Given the description of an element on the screen output the (x, y) to click on. 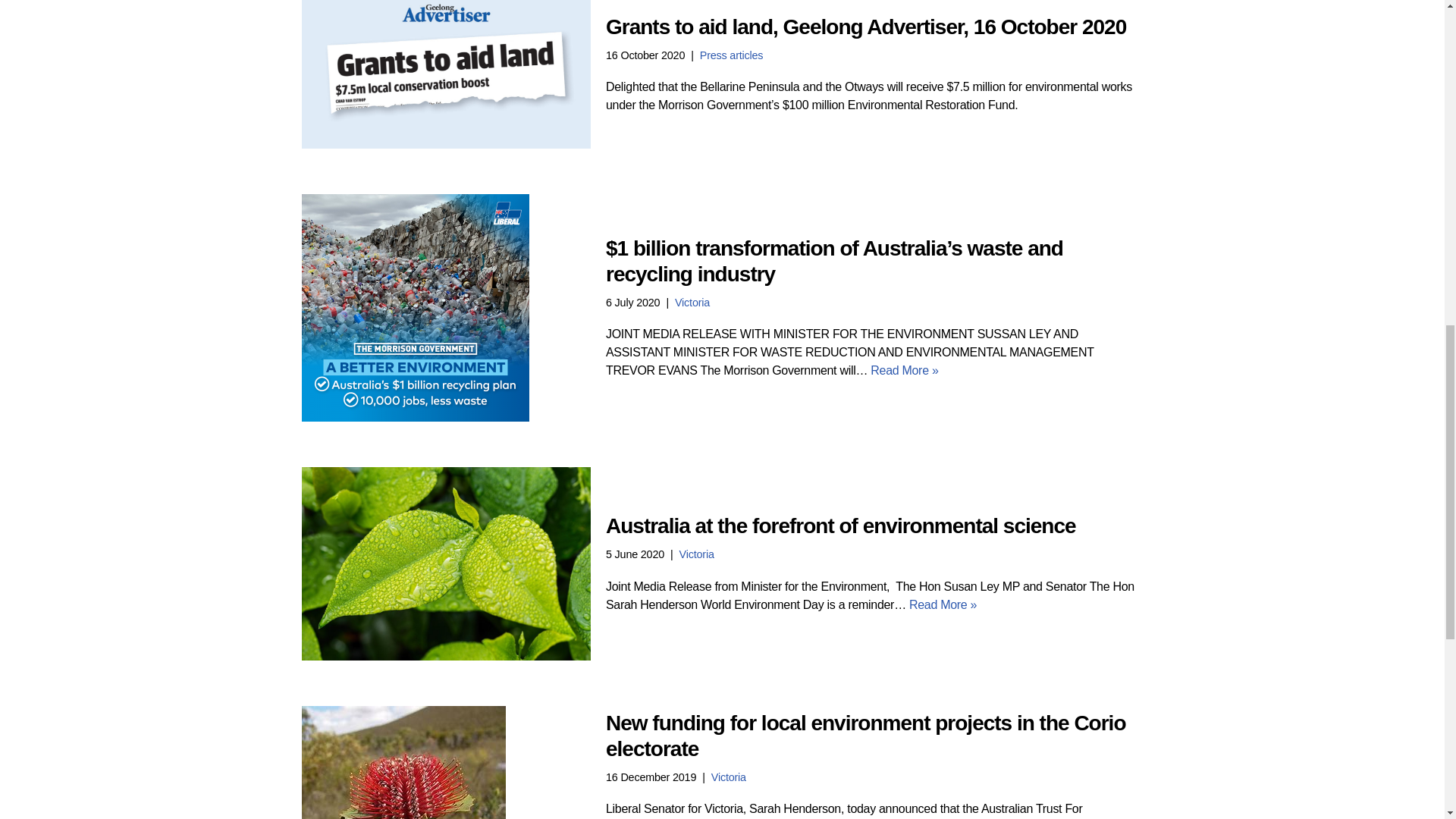
Grants to aid land, Geelong Advertiser, 16 October 2020 (446, 74)
Australia at the forefront of environmental science (446, 563)
